Given the description of an element on the screen output the (x, y) to click on. 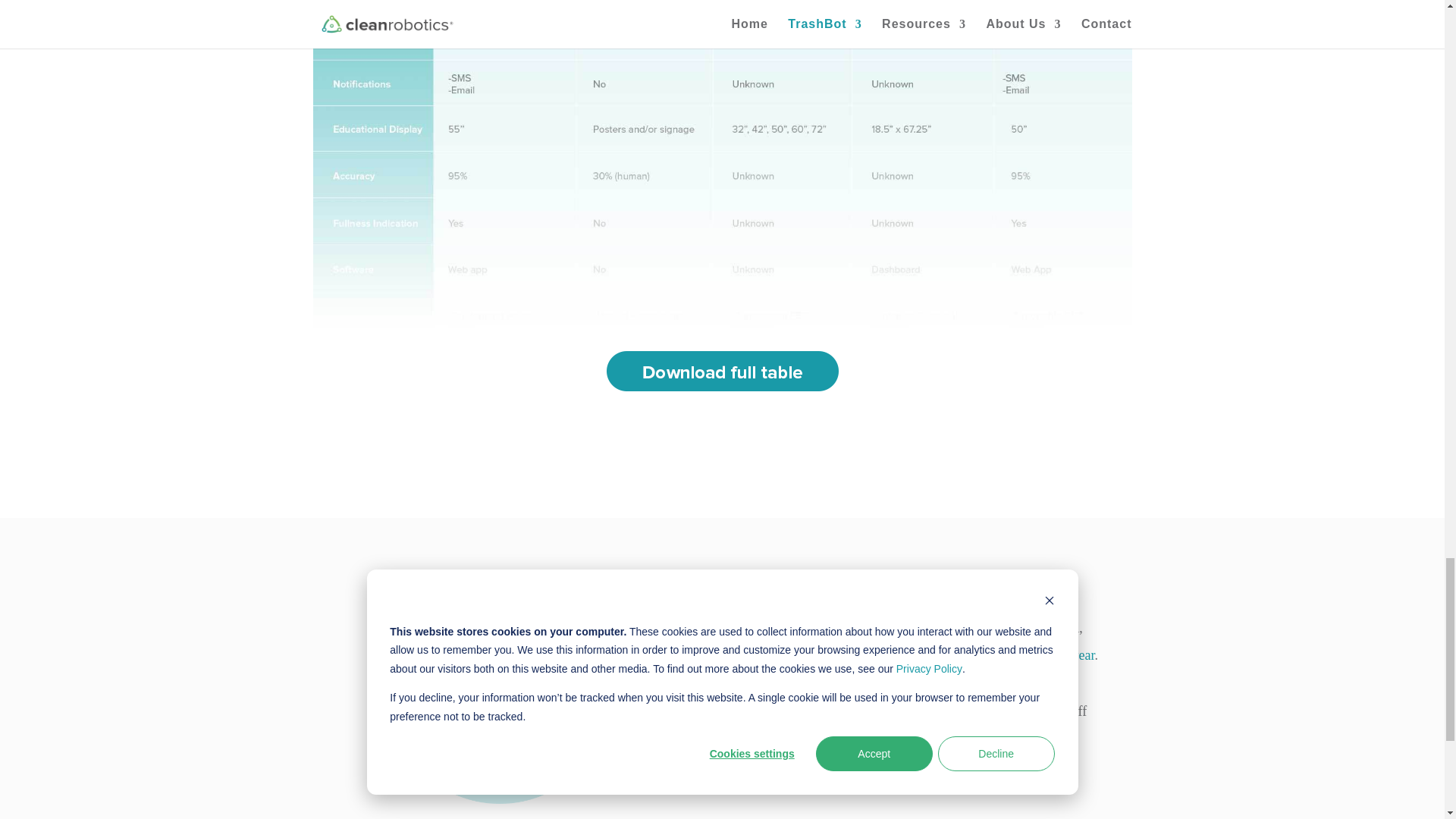
Download full table Button CleanRobotics (722, 371)
Consideration Landing Page Leaf Image CleanRobotics 01 (499, 691)
